Given the description of an element on the screen output the (x, y) to click on. 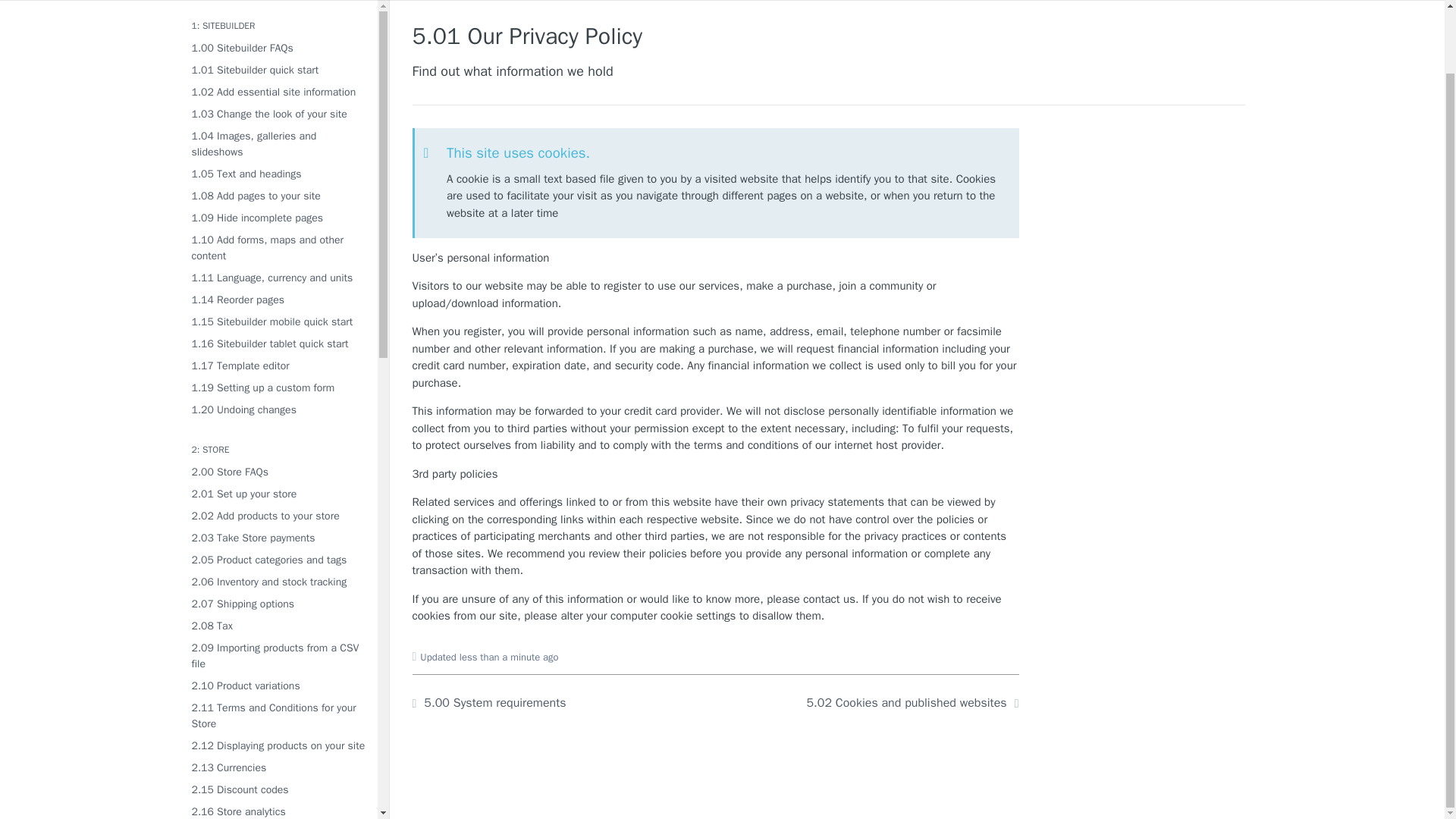
1.04 Images, galleries and slideshows (277, 144)
2.09 Importing products from a CSV file (277, 656)
1.05 Text and headings (277, 173)
1.15 Sitebuilder mobile quick start (277, 322)
1.08 Add pages to your site (277, 195)
1.14 Reorder pages (277, 299)
1.20 Undoing changes (277, 409)
1.09 Hide incomplete pages (277, 218)
1.11 Language, currency and units (277, 277)
2.11 Terms and Conditions for your Store (277, 715)
